Given the description of an element on the screen output the (x, y) to click on. 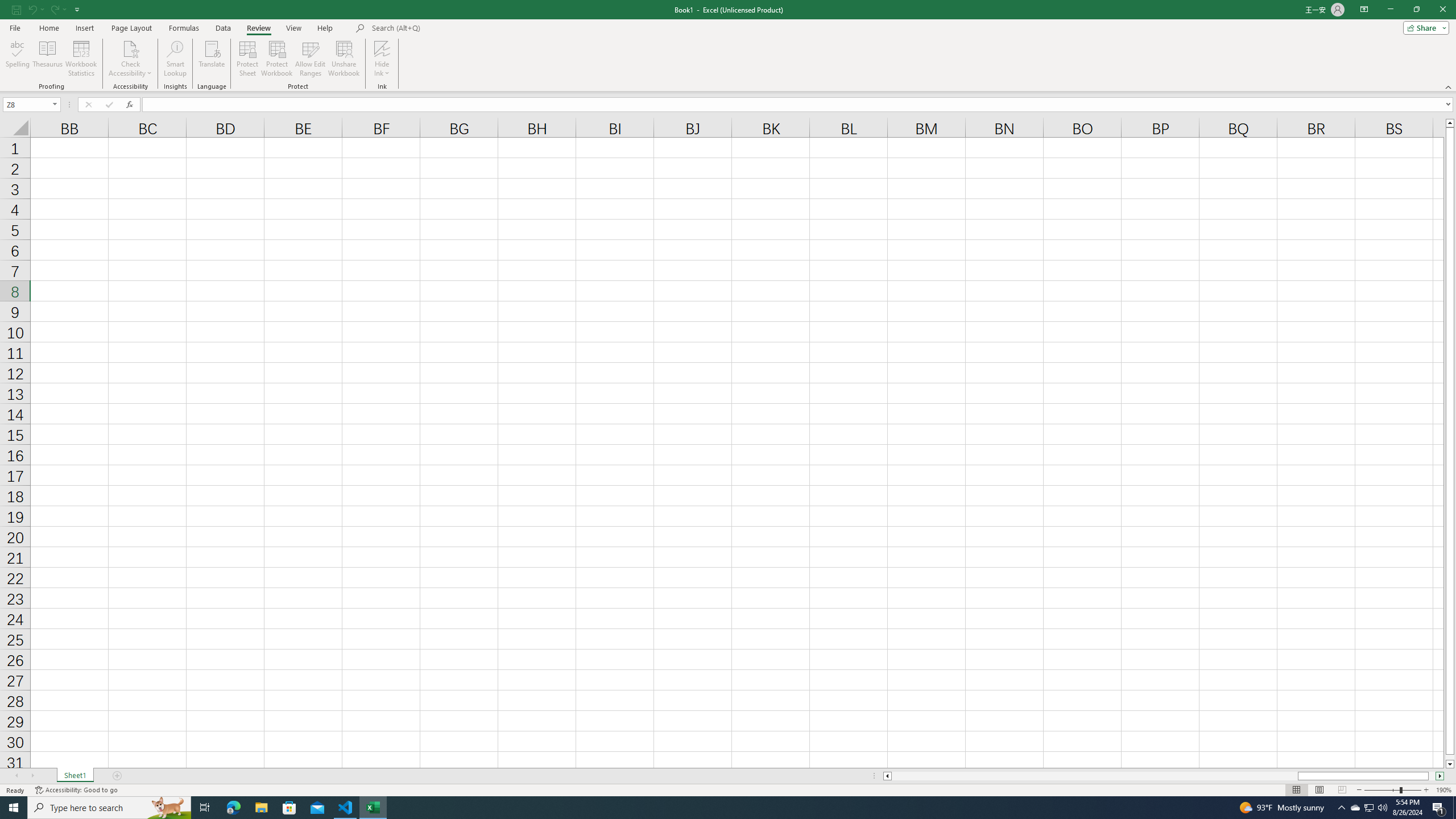
Unshare Workbook (344, 58)
Smart Lookup (175, 58)
Hide Ink (381, 58)
